Given the description of an element on the screen output the (x, y) to click on. 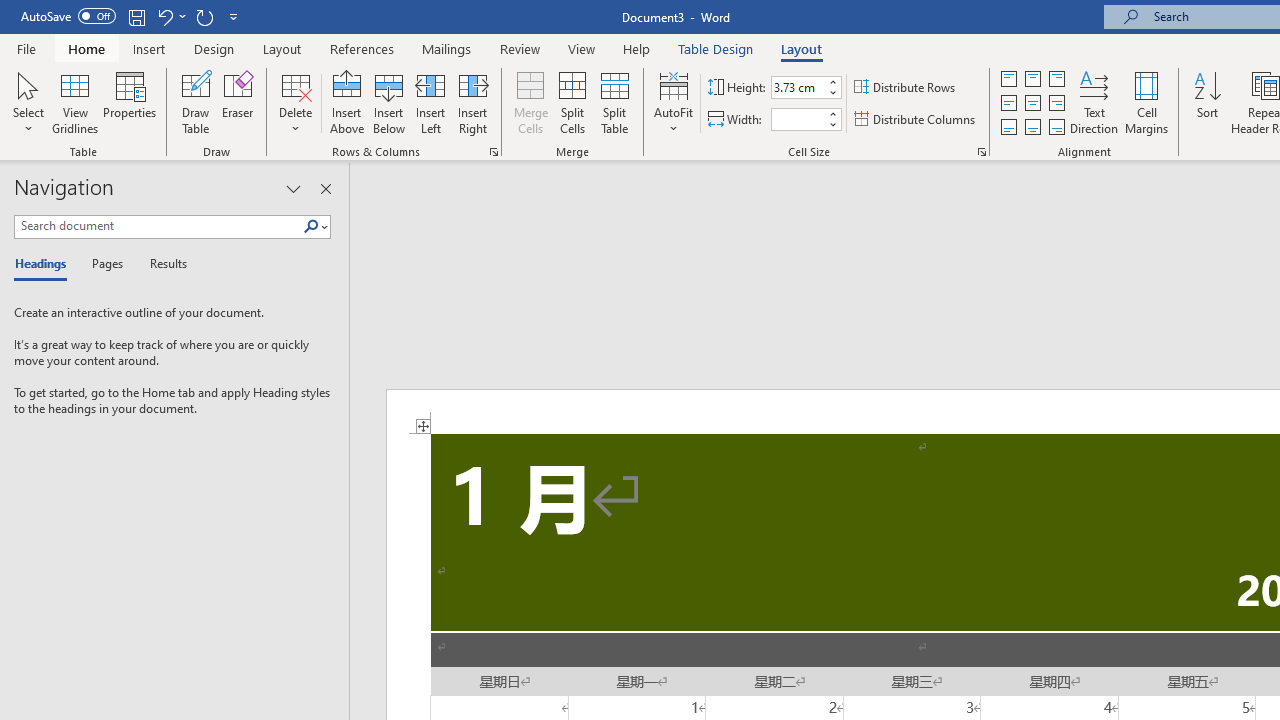
Align Top Right (1056, 78)
Insert Left (430, 102)
